Given the description of an element on the screen output the (x, y) to click on. 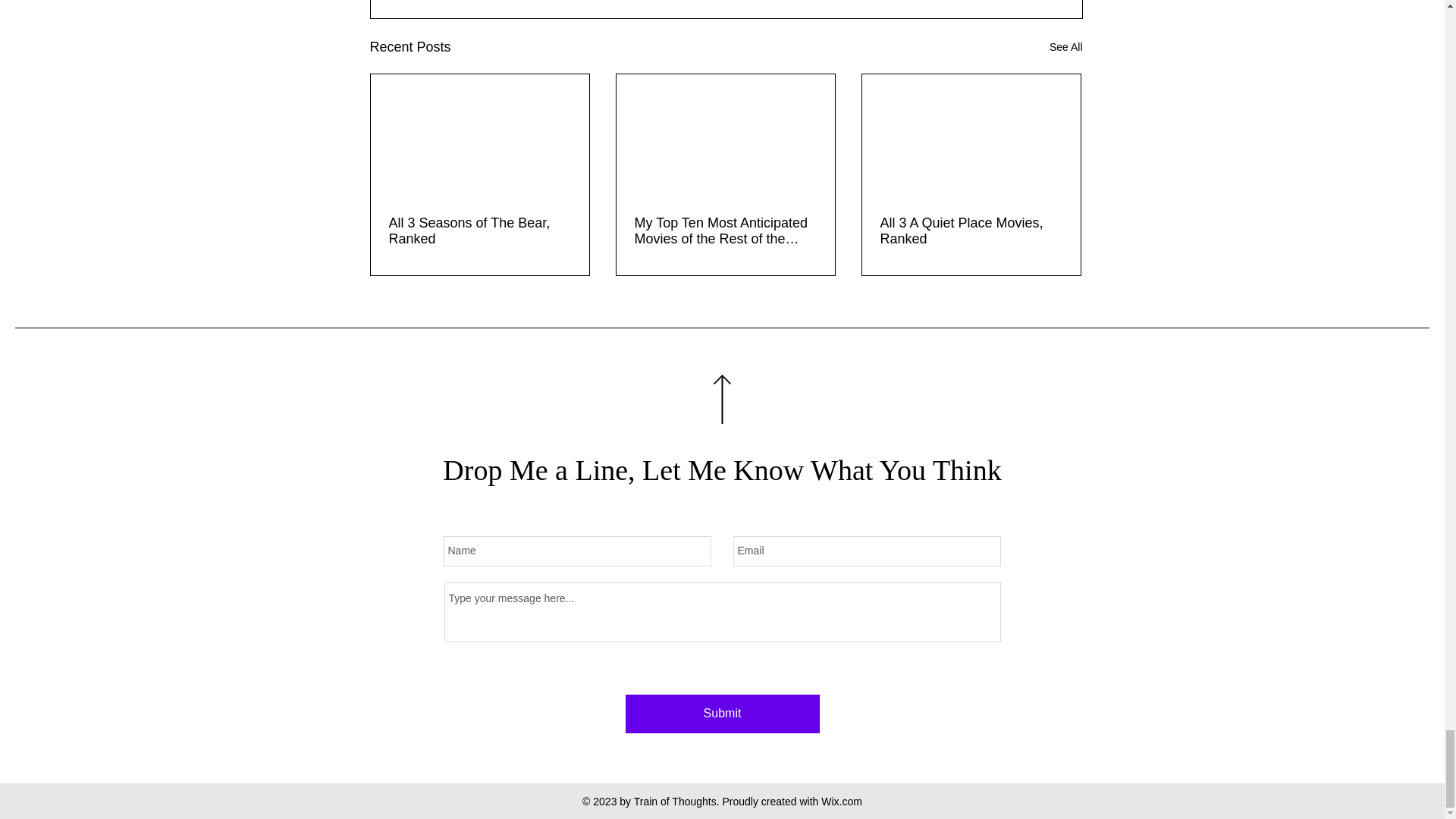
Submit (721, 713)
My Top Ten Most Anticipated Movies of the Rest of the Year (724, 231)
See All (1066, 47)
All 3 A Quiet Place Movies, Ranked (970, 231)
Wix.com (841, 801)
All 3 Seasons of The Bear, Ranked (479, 231)
